Given the description of an element on the screen output the (x, y) to click on. 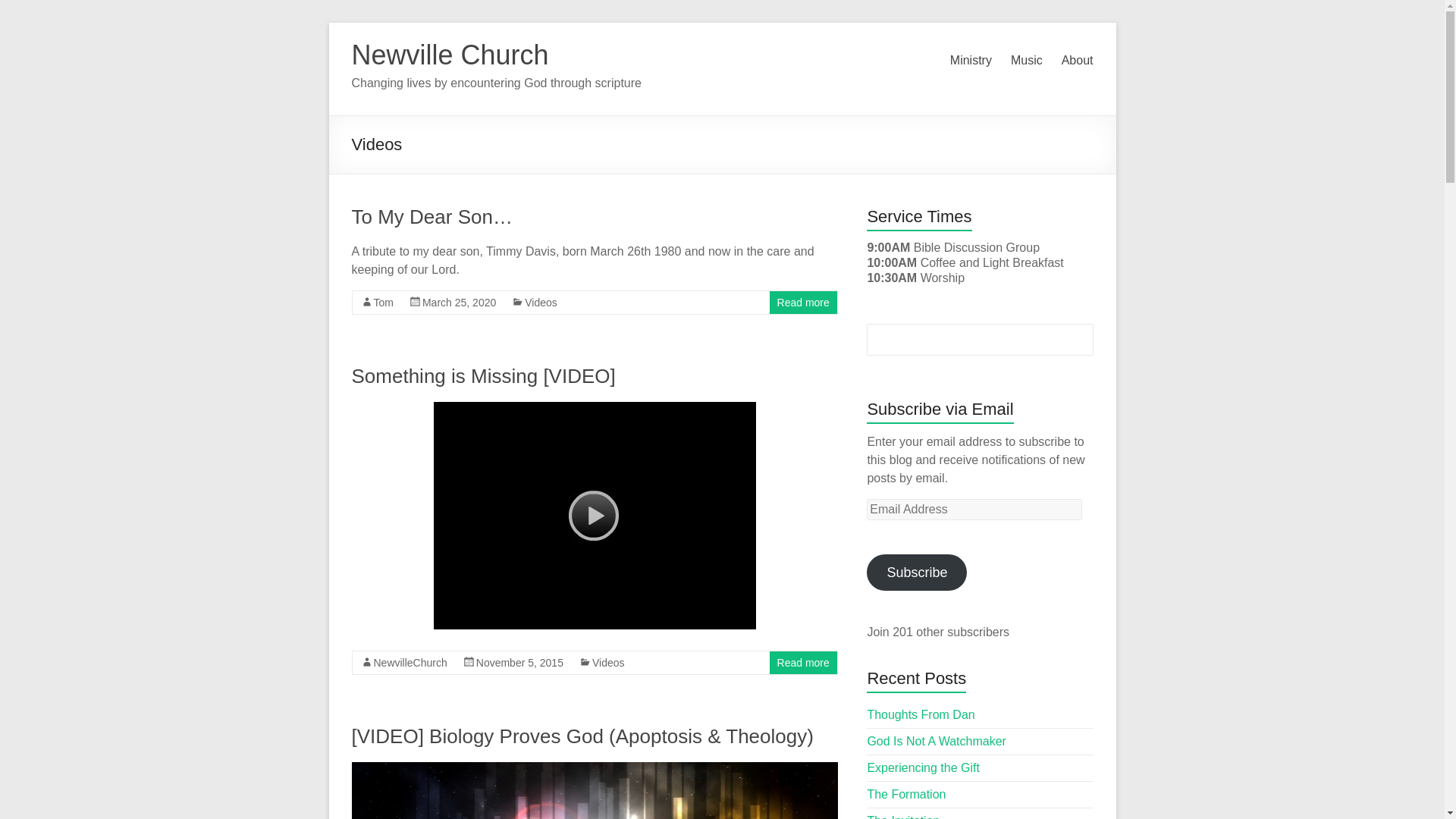
Videos (540, 302)
Read more (803, 662)
12:24 pm (459, 302)
Ministry (970, 60)
About (1077, 60)
1:51 pm (519, 662)
November 5, 2015 (519, 662)
Tom (382, 302)
Music (1026, 60)
